Given the description of an element on the screen output the (x, y) to click on. 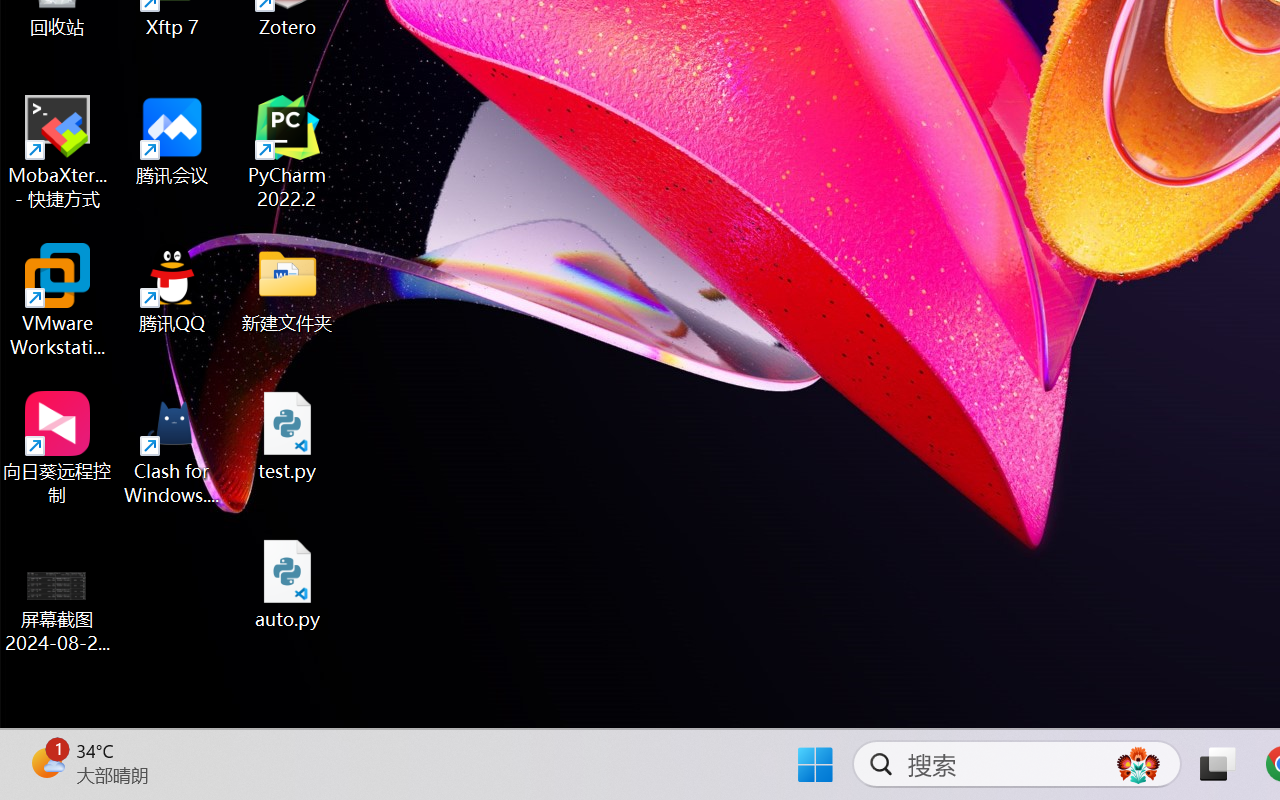
VMware Workstation Pro (57, 300)
PyCharm 2022.2 (287, 152)
auto.py (287, 584)
test.py (287, 436)
